Given the description of an element on the screen output the (x, y) to click on. 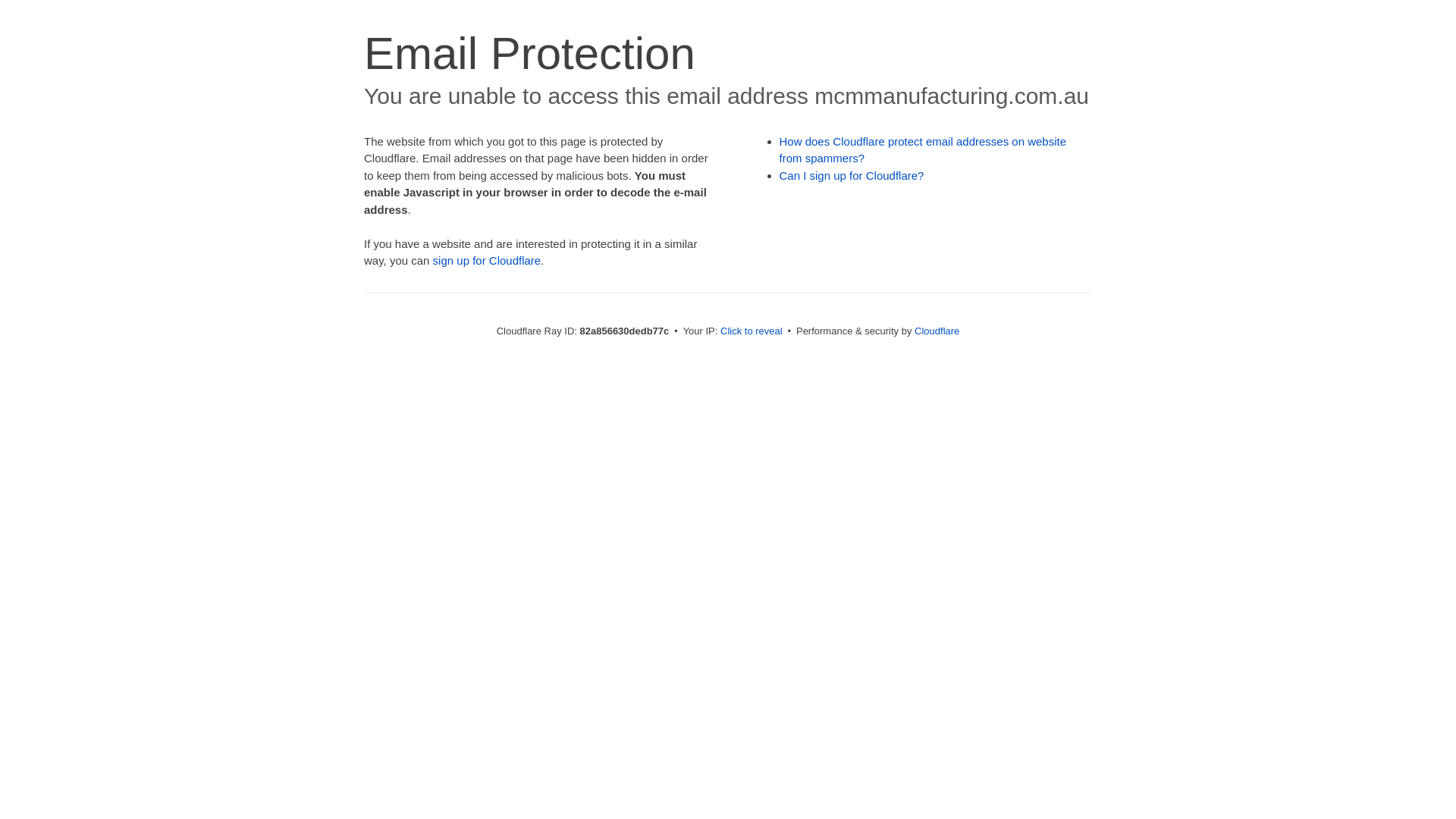
sign up for Cloudflare Element type: text (487, 260)
Cloudflare Element type: text (936, 330)
Can I sign up for Cloudflare? Element type: text (851, 175)
Click to reveal Element type: text (751, 330)
